Given the description of an element on the screen output the (x, y) to click on. 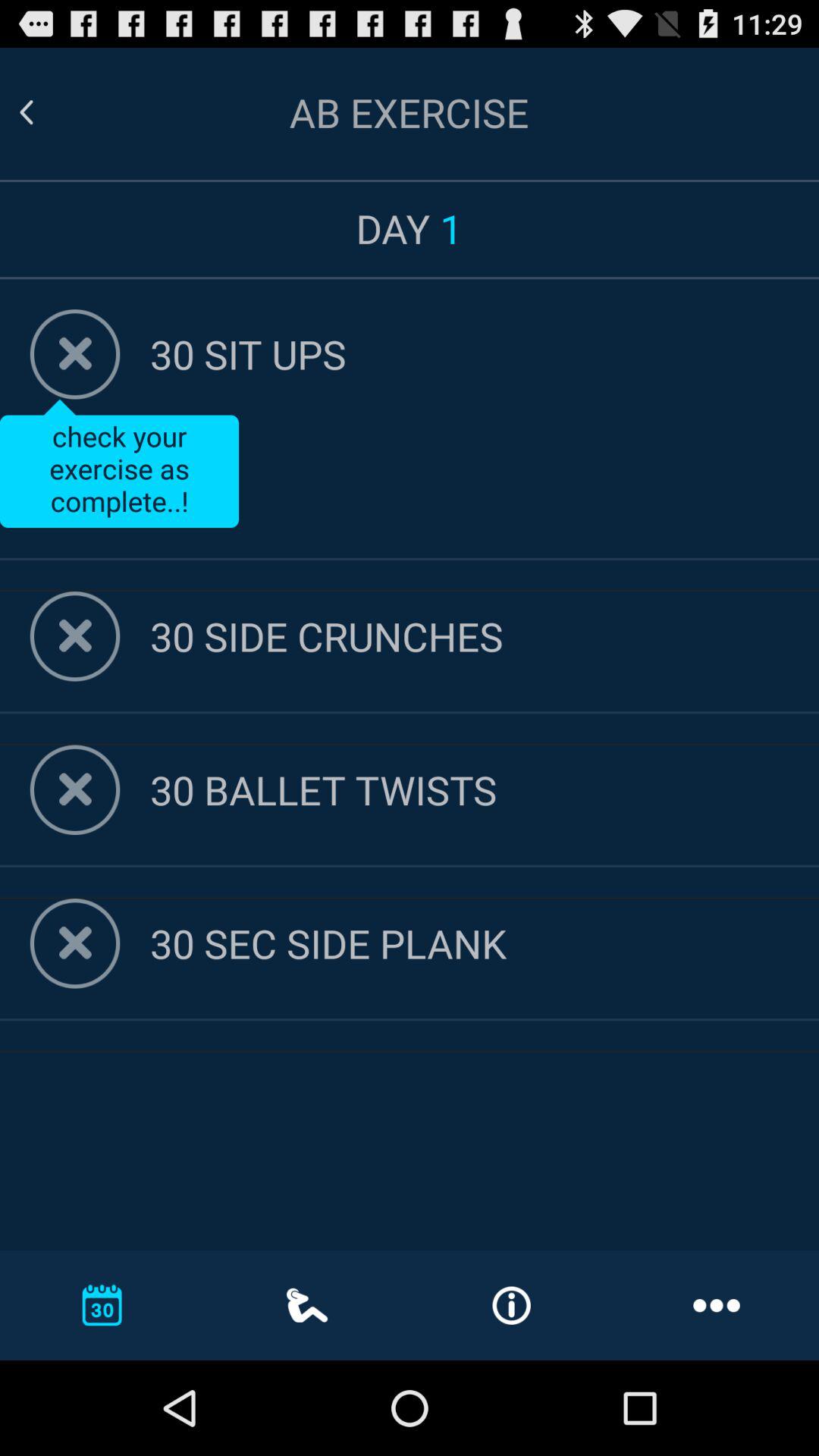
go back (75, 789)
